Given the description of an element on the screen output the (x, y) to click on. 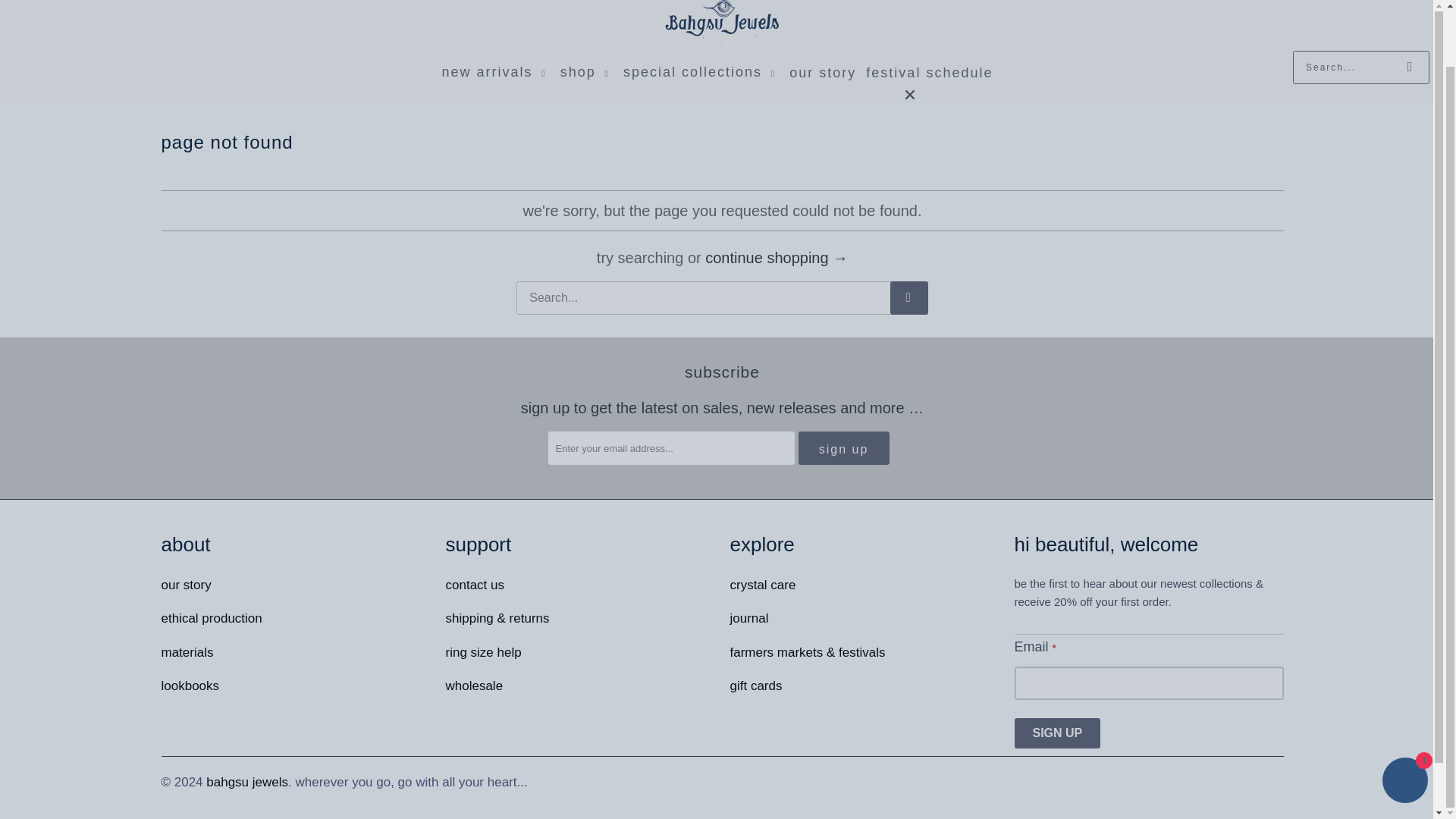
Bahgsu Jewels (722, 25)
Shopify online store chat (1404, 720)
Sign Up (842, 448)
